Given the description of an element on the screen output the (x, y) to click on. 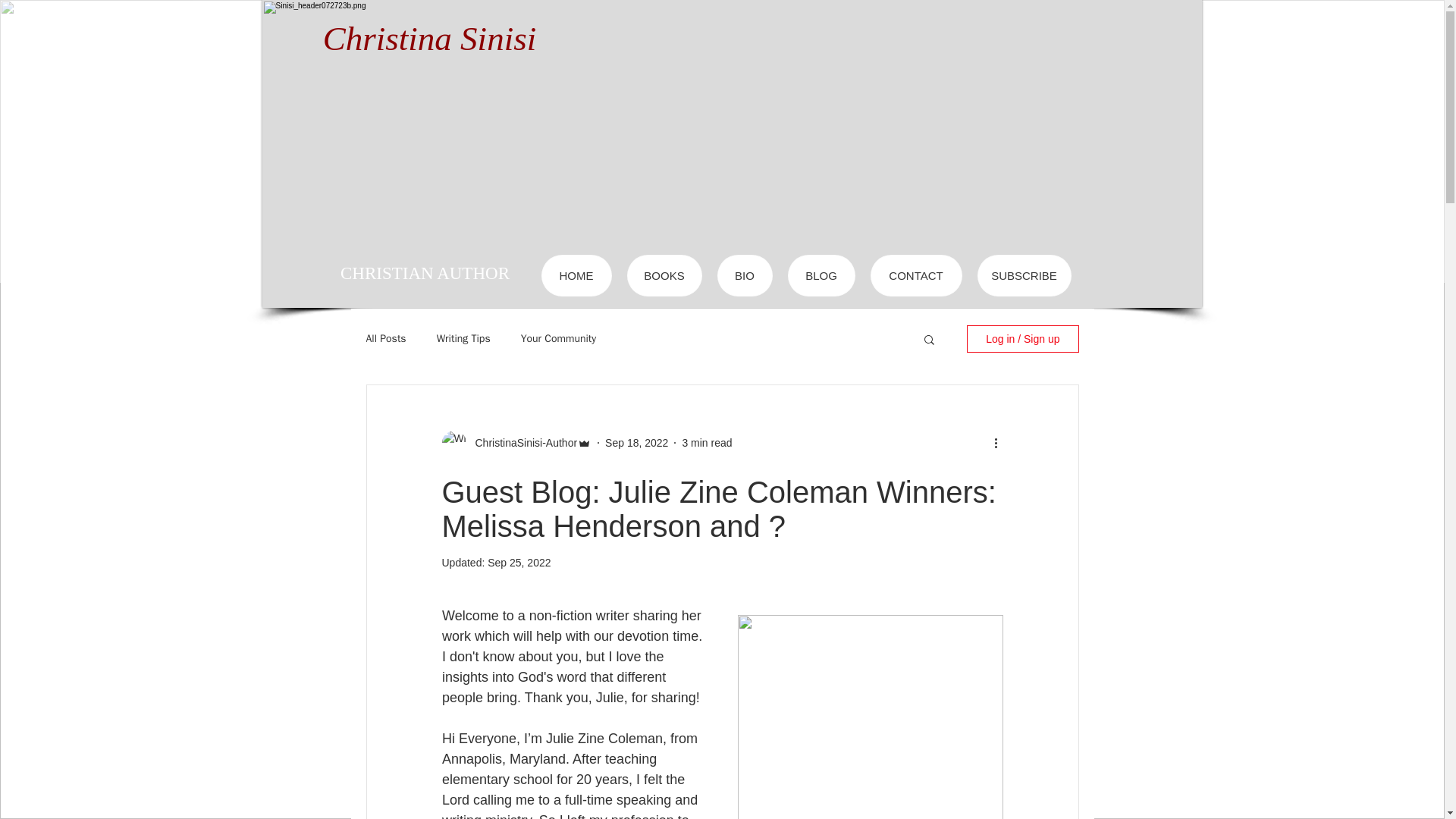
Sep 18, 2022 (636, 442)
HOME (576, 275)
Sep 25, 2022 (518, 562)
3 min read (706, 442)
BIO (745, 275)
SUBSCRIBE (1023, 275)
CONTACT (916, 275)
ChristinaSinisi-Author (520, 442)
BOOKS (663, 275)
All Posts (385, 338)
Writing Tips (463, 338)
BLOG (820, 275)
Your Community (558, 338)
